Given the description of an element on the screen output the (x, y) to click on. 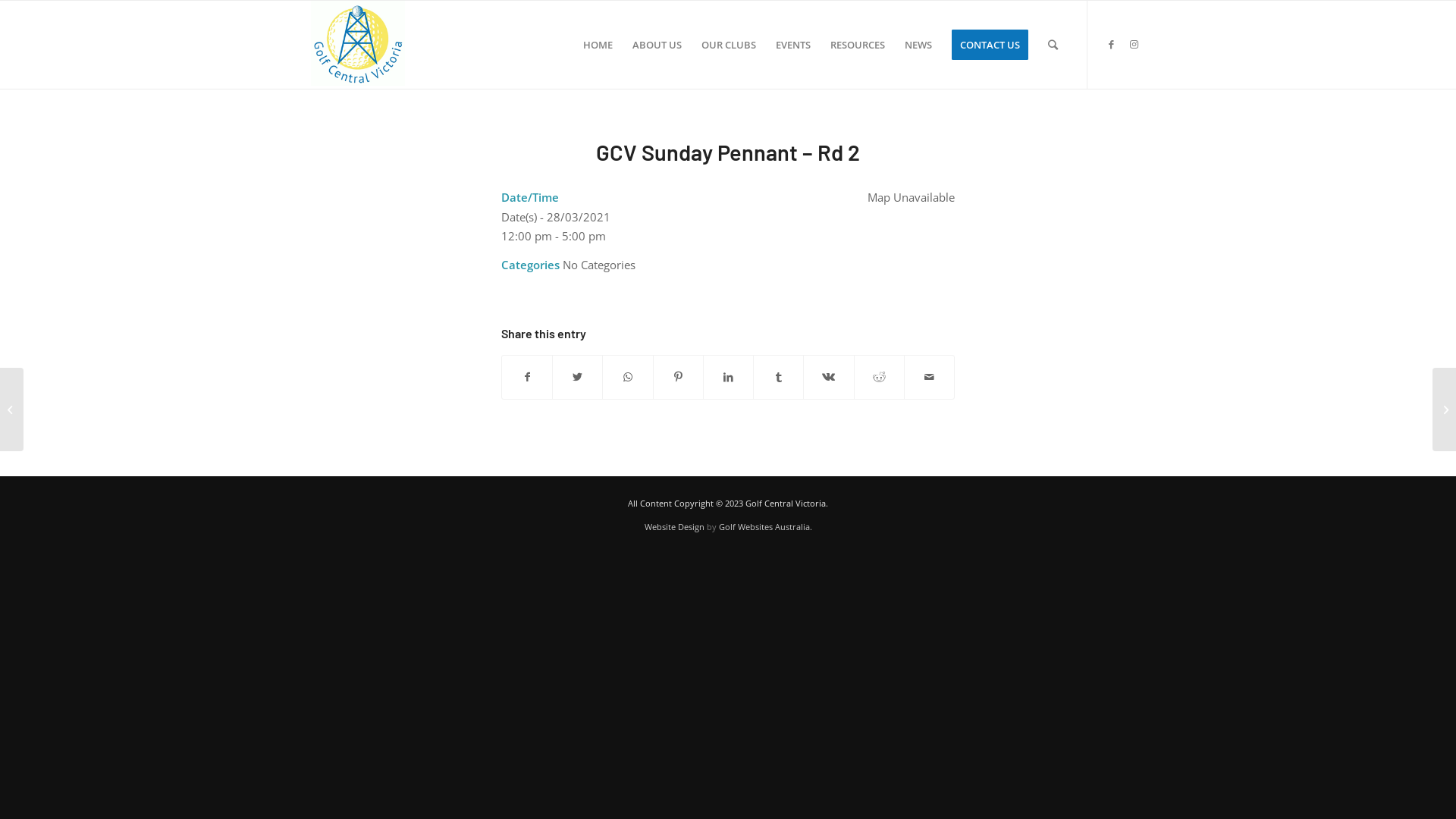
NEWS Element type: text (917, 44)
Website Design Element type: text (674, 526)
OUR CLUBS Element type: text (728, 44)
CONTACT US Element type: text (989, 44)
ABOUT US Element type: text (656, 44)
Facebook Element type: hover (1110, 43)
Instagram Element type: hover (1133, 43)
HOME Element type: text (597, 44)
Golf Websites Australia. Element type: text (765, 526)
EVENTS Element type: text (792, 44)
RESOURCES Element type: text (857, 44)
